Given the description of an element on the screen output the (x, y) to click on. 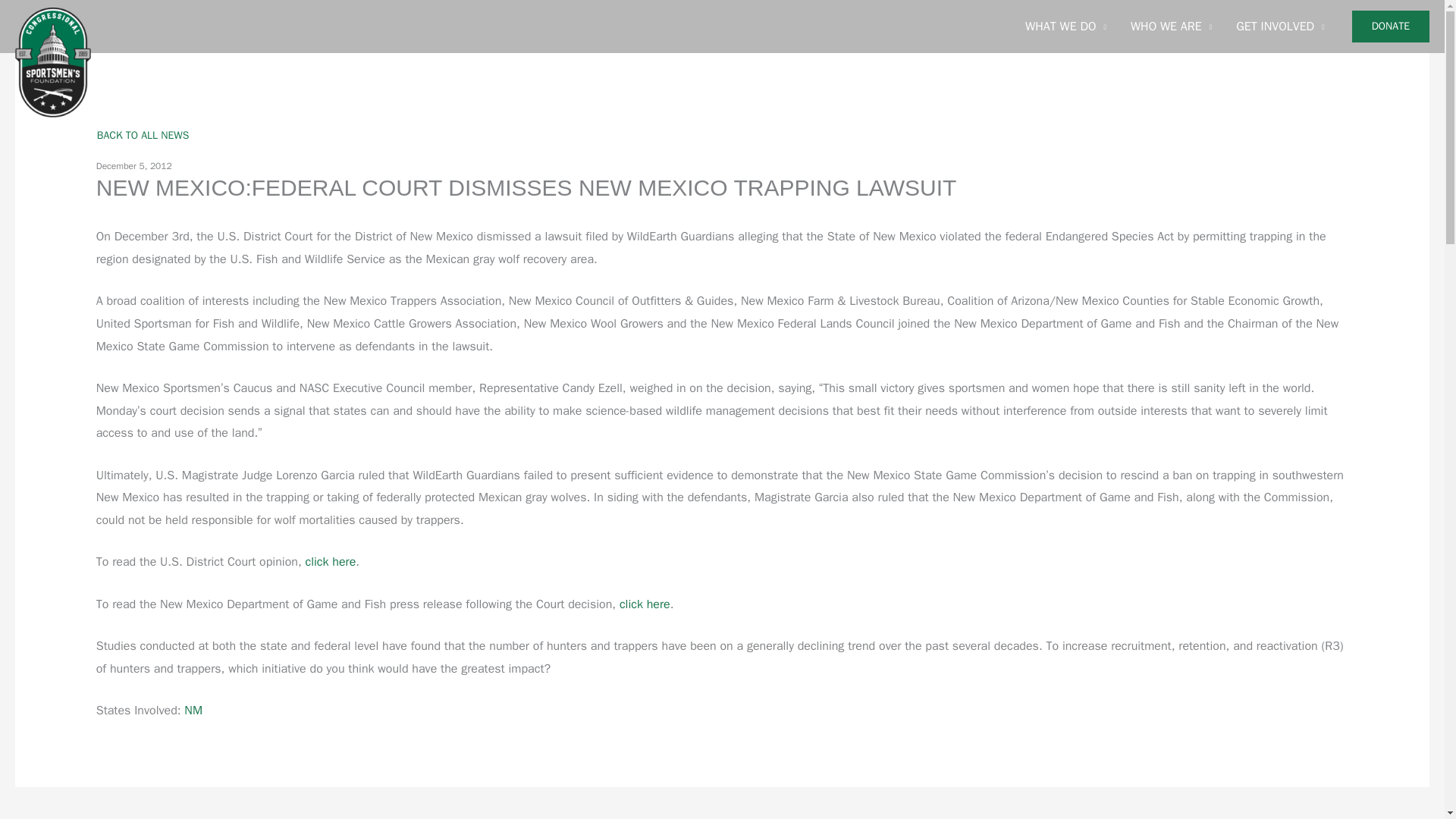
click here (329, 561)
NM (193, 710)
GET INVOLVED (1280, 26)
WHAT WE DO (1065, 26)
BACK TO ALL NEWS (143, 134)
DONATE (1390, 26)
WHO WE ARE (1171, 26)
click here (644, 604)
